Given the description of an element on the screen output the (x, y) to click on. 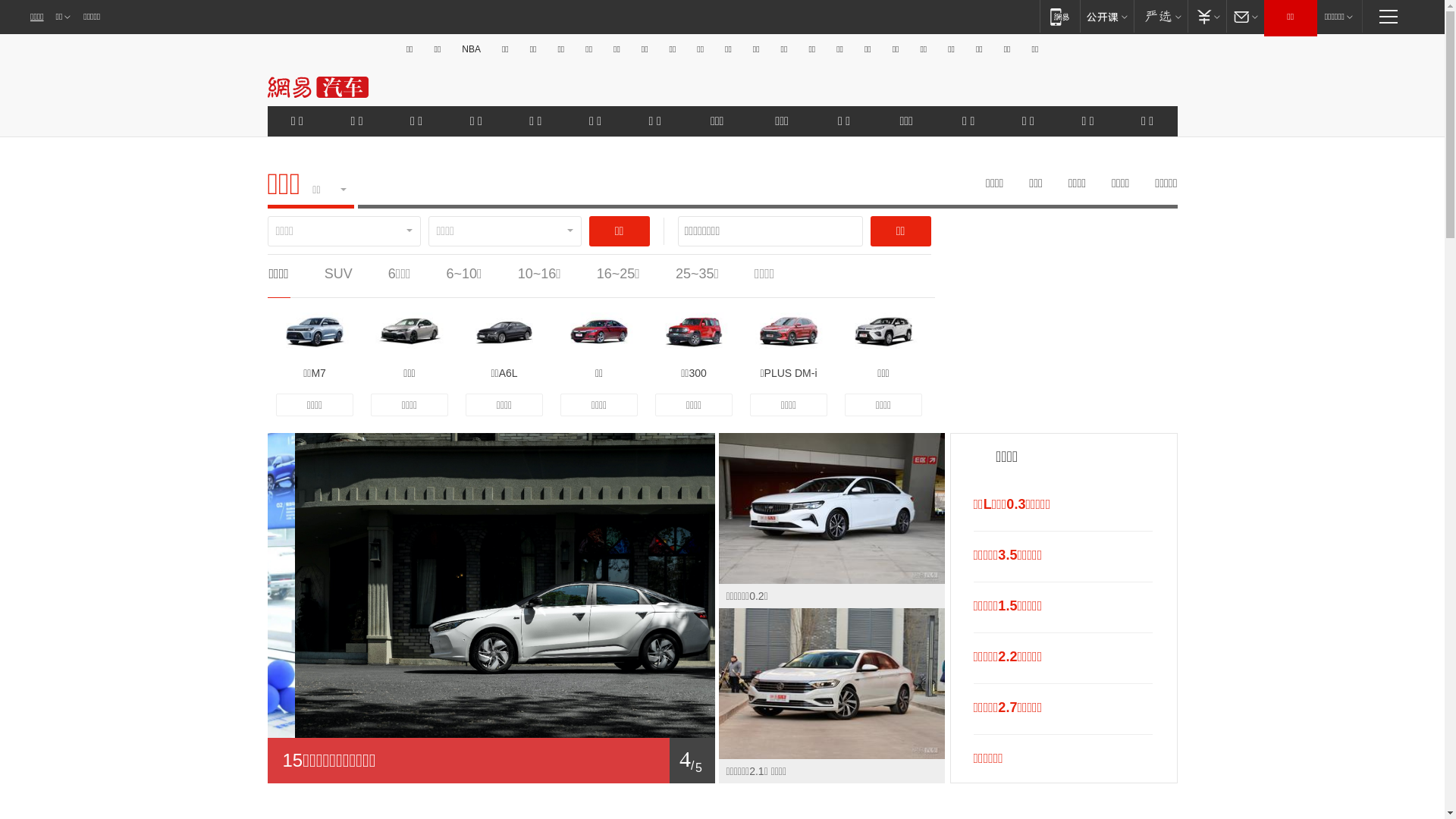
SUV Element type: text (338, 273)
NBA Element type: text (471, 48)
1/ 5 Element type: text (490, 760)
